Given the description of an element on the screen output the (x, y) to click on. 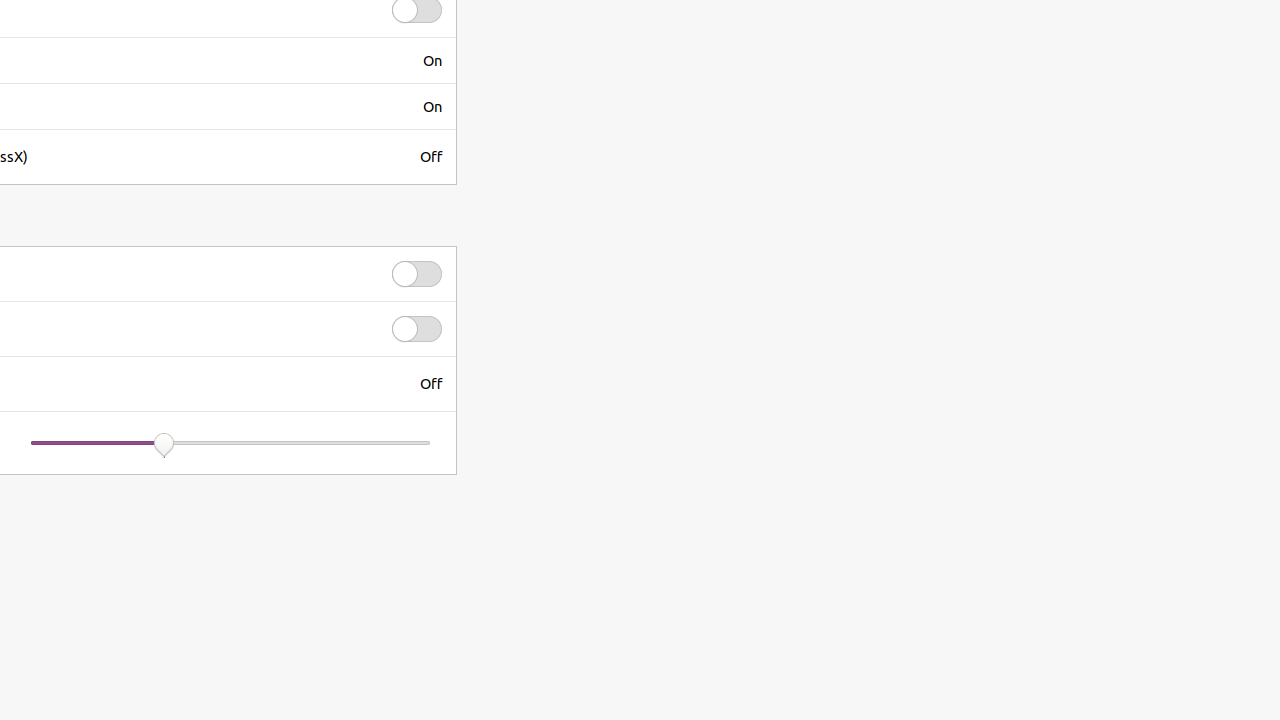
On Element type: label (432, 60)
